Given the description of an element on the screen output the (x, y) to click on. 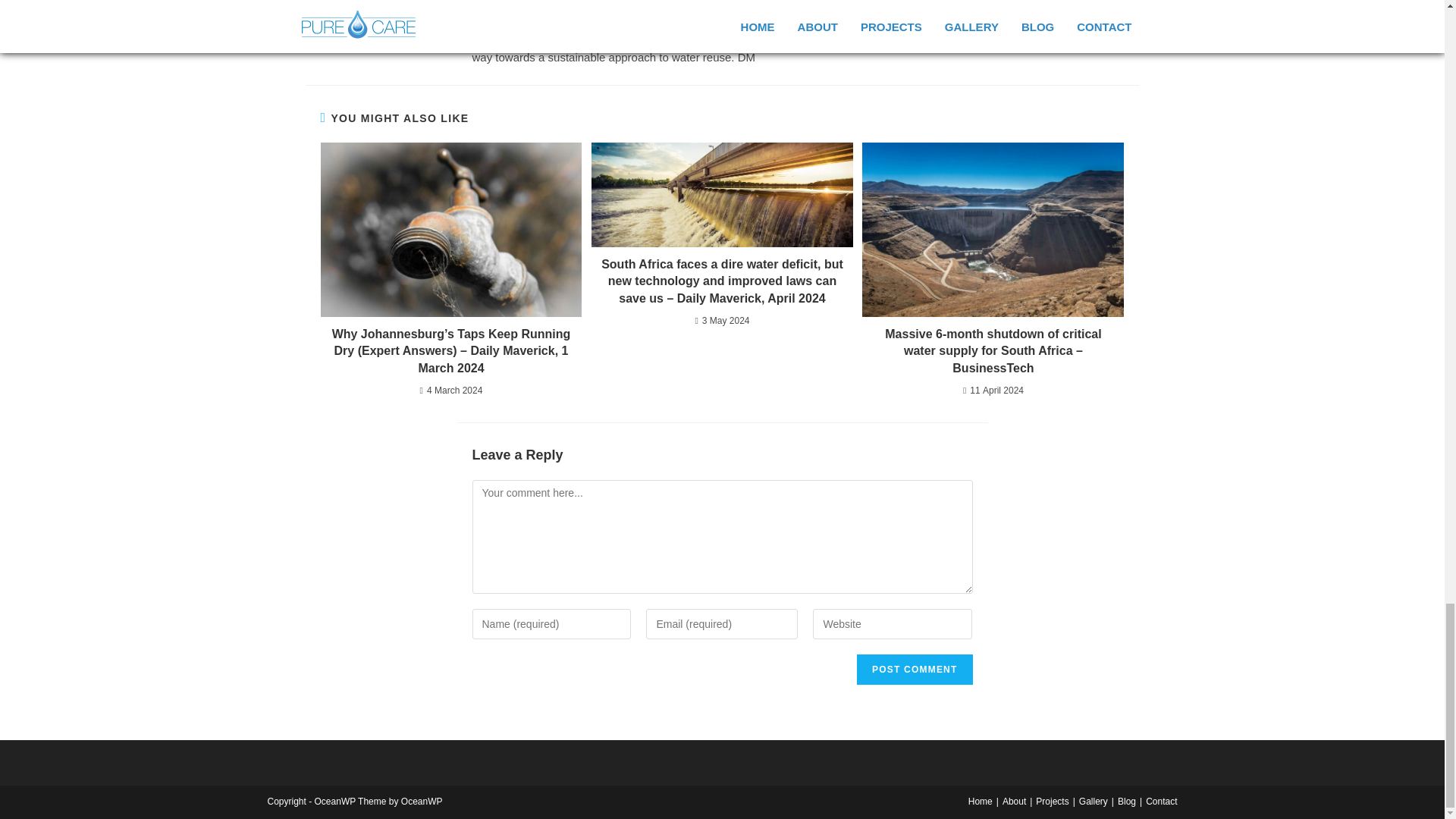
Gallery (1093, 801)
About (1014, 801)
Projects (1051, 801)
Blog (1126, 801)
Post Comment (914, 669)
Contact (1160, 801)
Home (980, 801)
Post Comment (914, 669)
